Given the description of an element on the screen output the (x, y) to click on. 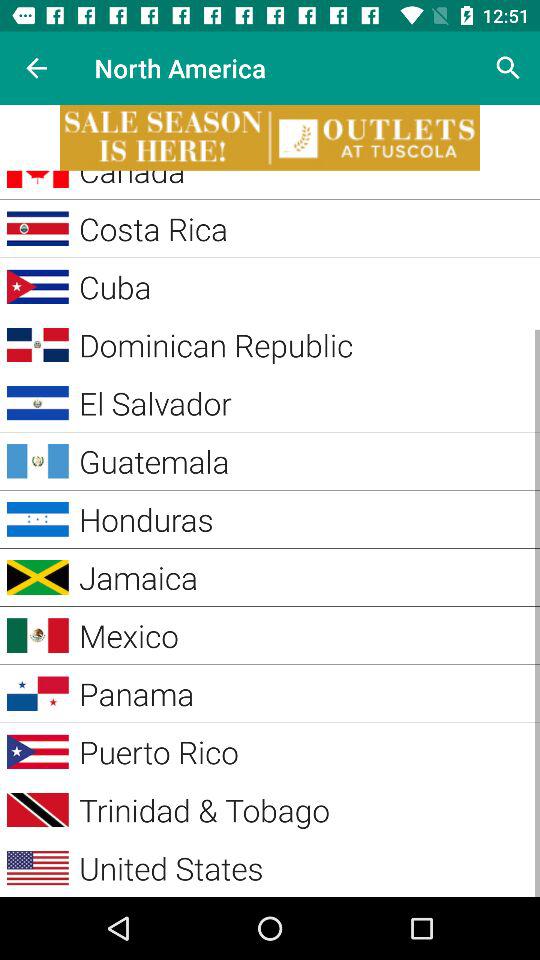
search box (508, 67)
